Given the description of an element on the screen output the (x, y) to click on. 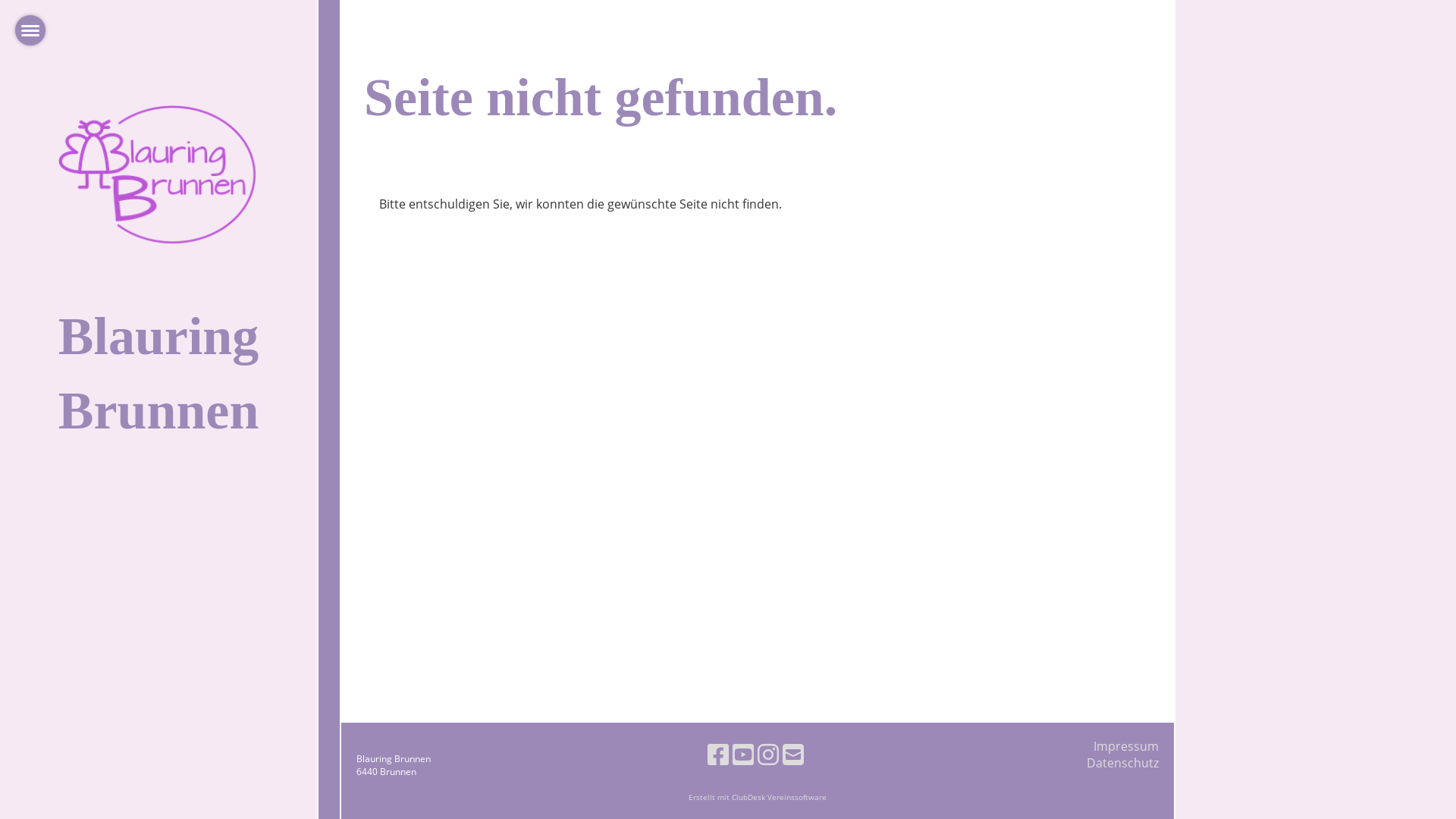
Impressum Element type: text (1125, 745)
Erstellt mit ClubDesk Vereinssoftware Element type: text (757, 797)
Datenschutz Element type: text (1122, 762)
